Given the description of an element on the screen output the (x, y) to click on. 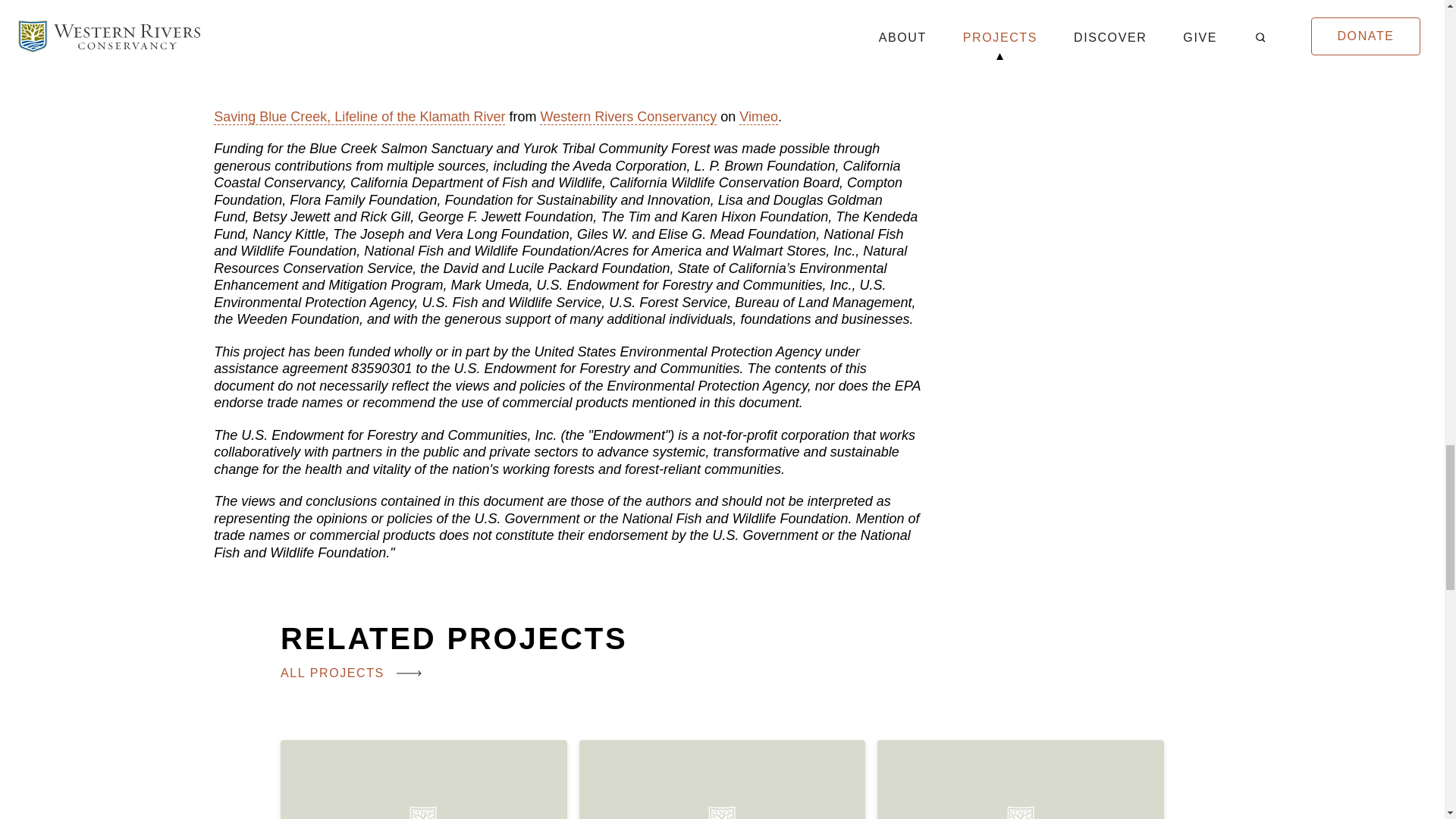
Western Rivers Conservancy (628, 116)
ALL PROJECTS (353, 685)
Vimeo (758, 116)
Saving Blue Creek, Lifeline of the Klamath River (359, 116)
